Given the description of an element on the screen output the (x, y) to click on. 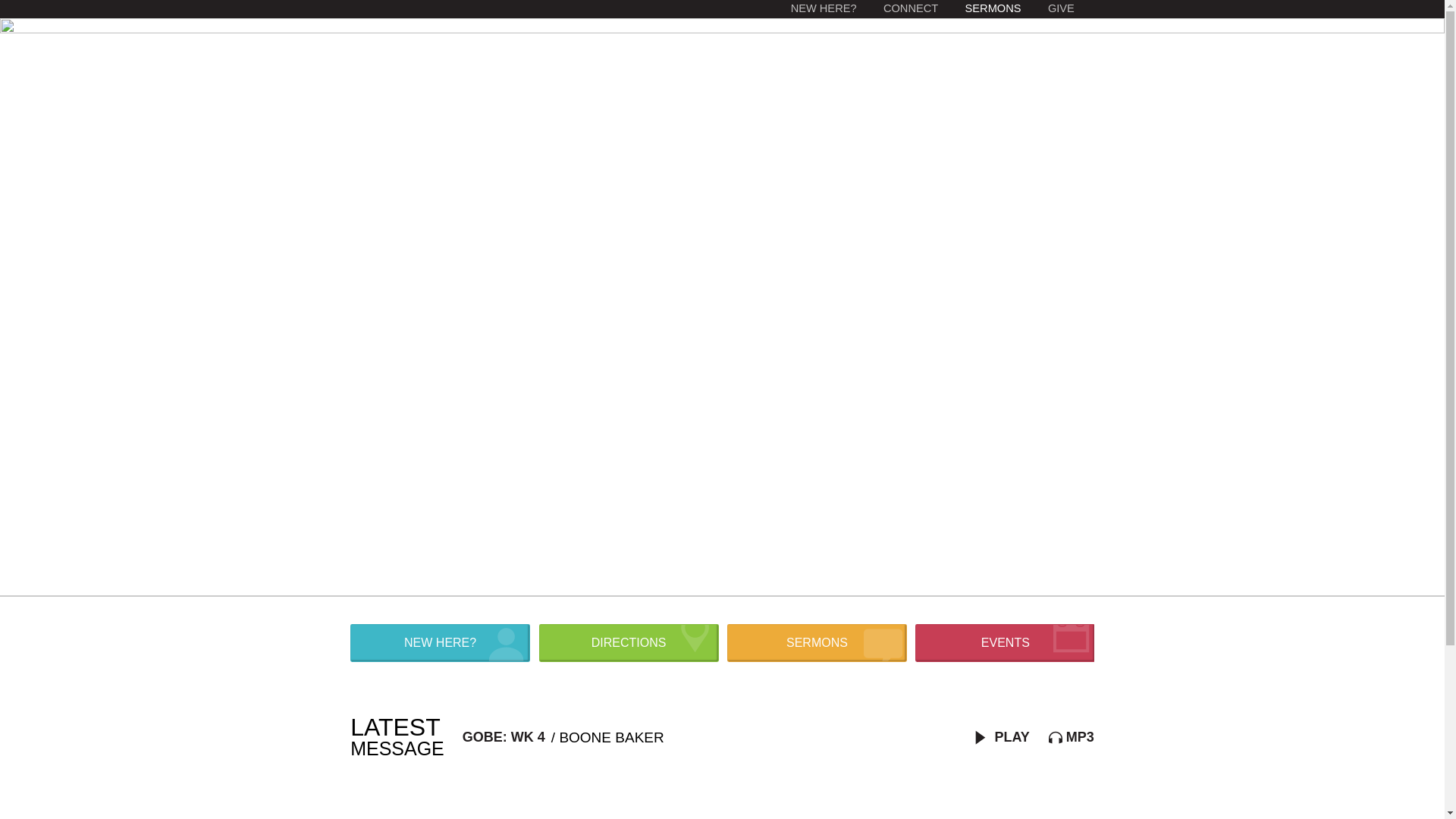
DIRECTIONS Element type: text (628, 643)
NEW HERE? Element type: text (440, 643)
EVENTS Element type: text (1005, 643)
MP3 Element type: text (1071, 737)
SERMONS Element type: text (816, 643)
GOBE: WK 4 Element type: text (503, 737)
PLAY Element type: text (1001, 737)
